Given the description of an element on the screen output the (x, y) to click on. 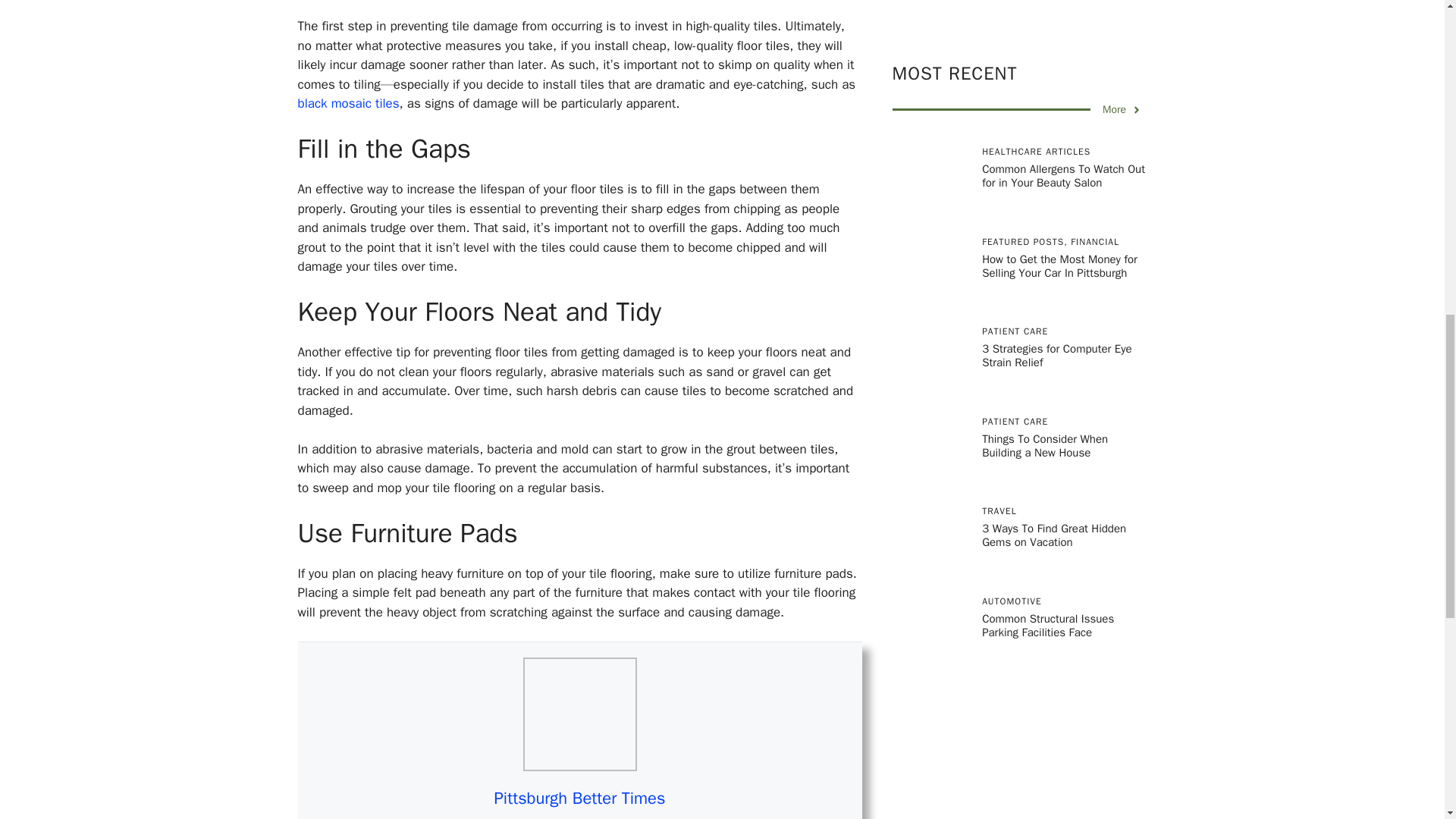
Tips On Preventing Floor Tiles From Getting Damaged 1 (579, 714)
Pittsburgh Better Times (580, 798)
black mosaic tiles (347, 103)
